Given the description of an element on the screen output the (x, y) to click on. 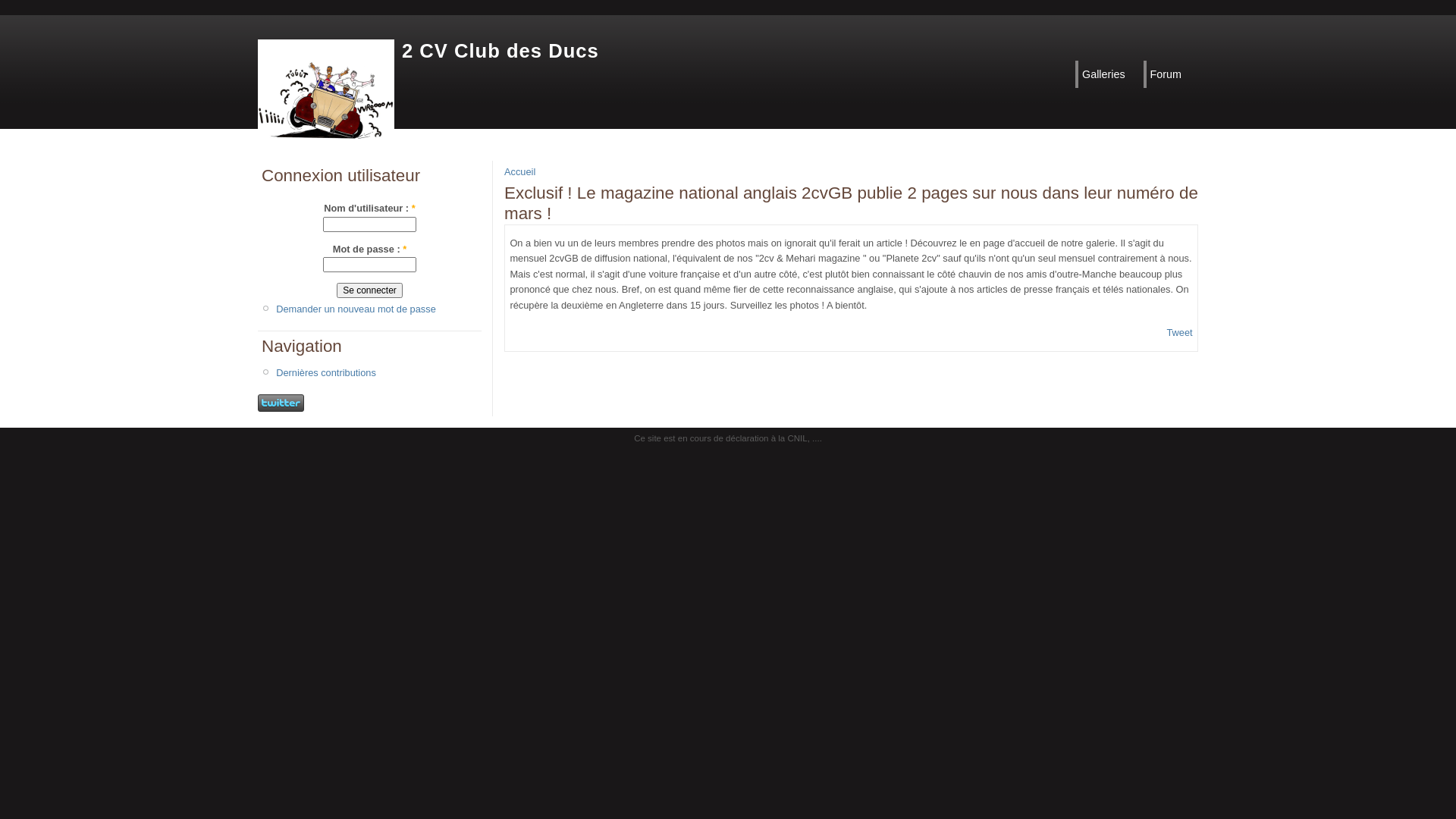
Se connecter Element type: text (369, 290)
2 CV Club des Ducs Element type: text (500, 50)
Galleries Element type: text (1107, 73)
Accueil Element type: text (519, 171)
Demander un nouveau mot de passe Element type: text (356, 308)
Tweet Element type: text (1179, 332)
Forum Element type: text (1169, 73)
